Given the description of an element on the screen output the (x, y) to click on. 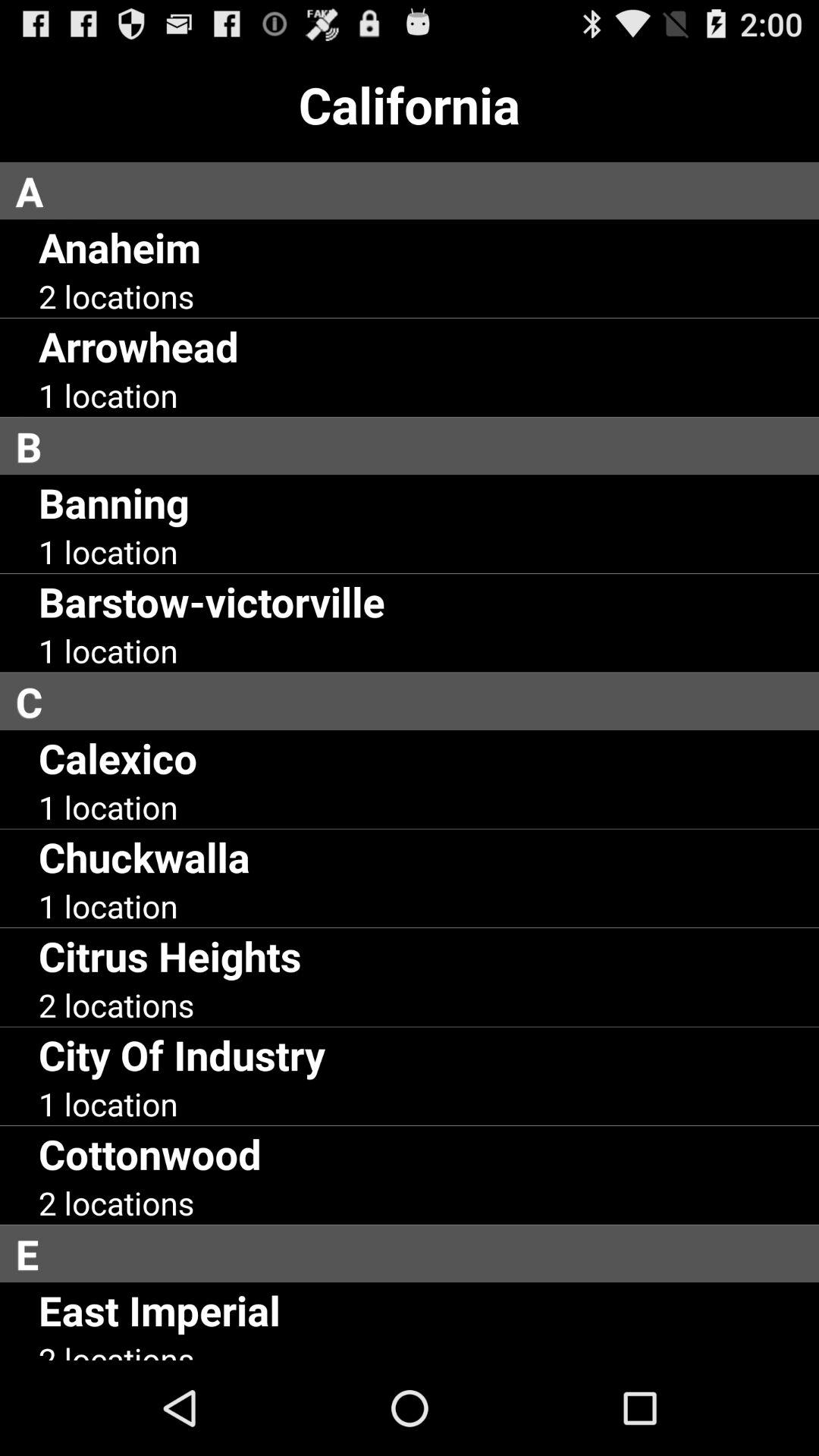
jump until calexico item (117, 757)
